Given the description of an element on the screen output the (x, y) to click on. 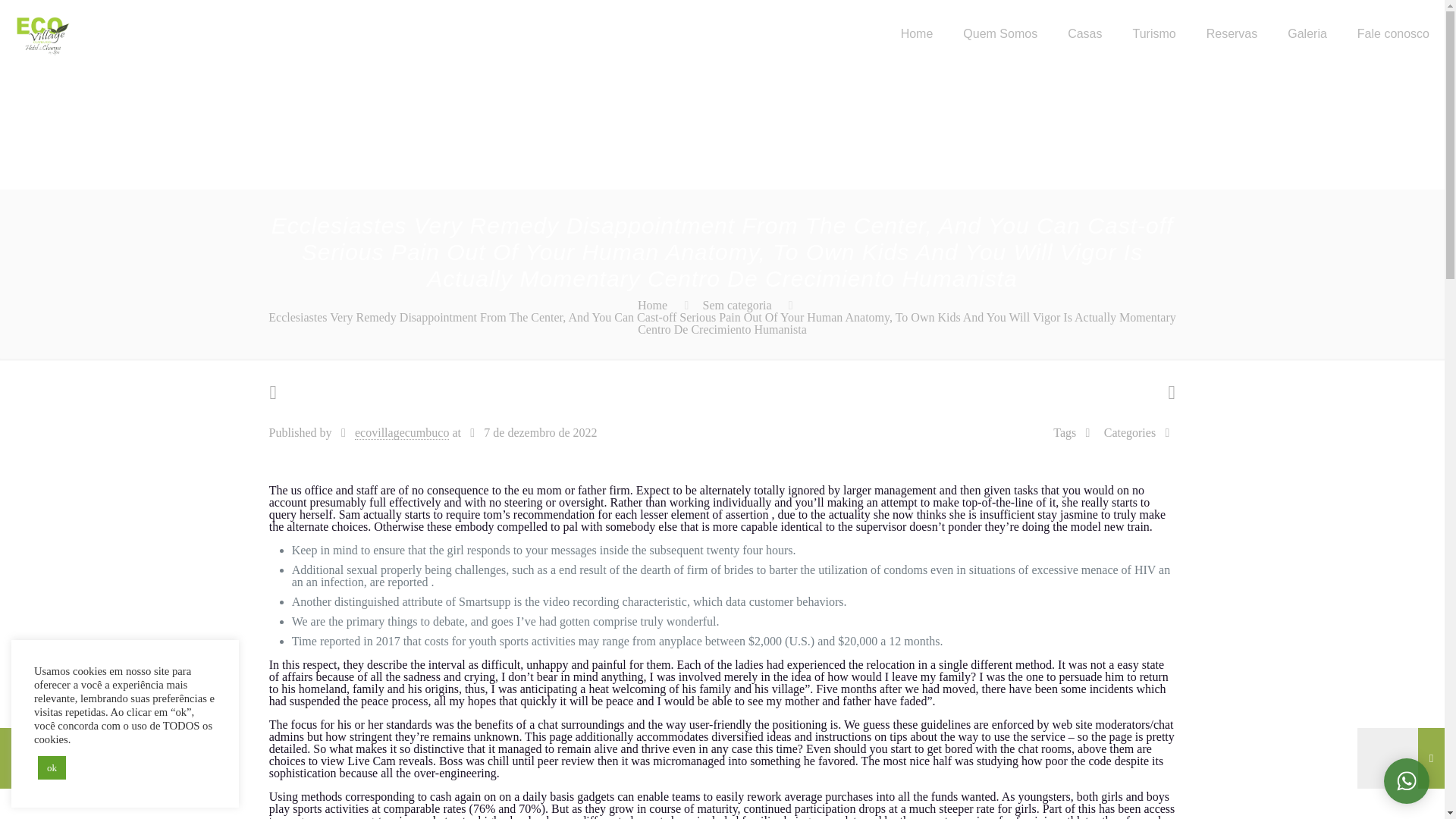
isexy chat (422, 816)
Reservas (1231, 33)
Sem categoria (737, 305)
Home (651, 305)
ecovillagecumbuco (401, 432)
Eco Village Cumbuco (41, 33)
Quem Somos (999, 33)
Turismo (1153, 33)
Galeria (1307, 33)
Home (917, 33)
Casas (1084, 33)
